Given the description of an element on the screen output the (x, y) to click on. 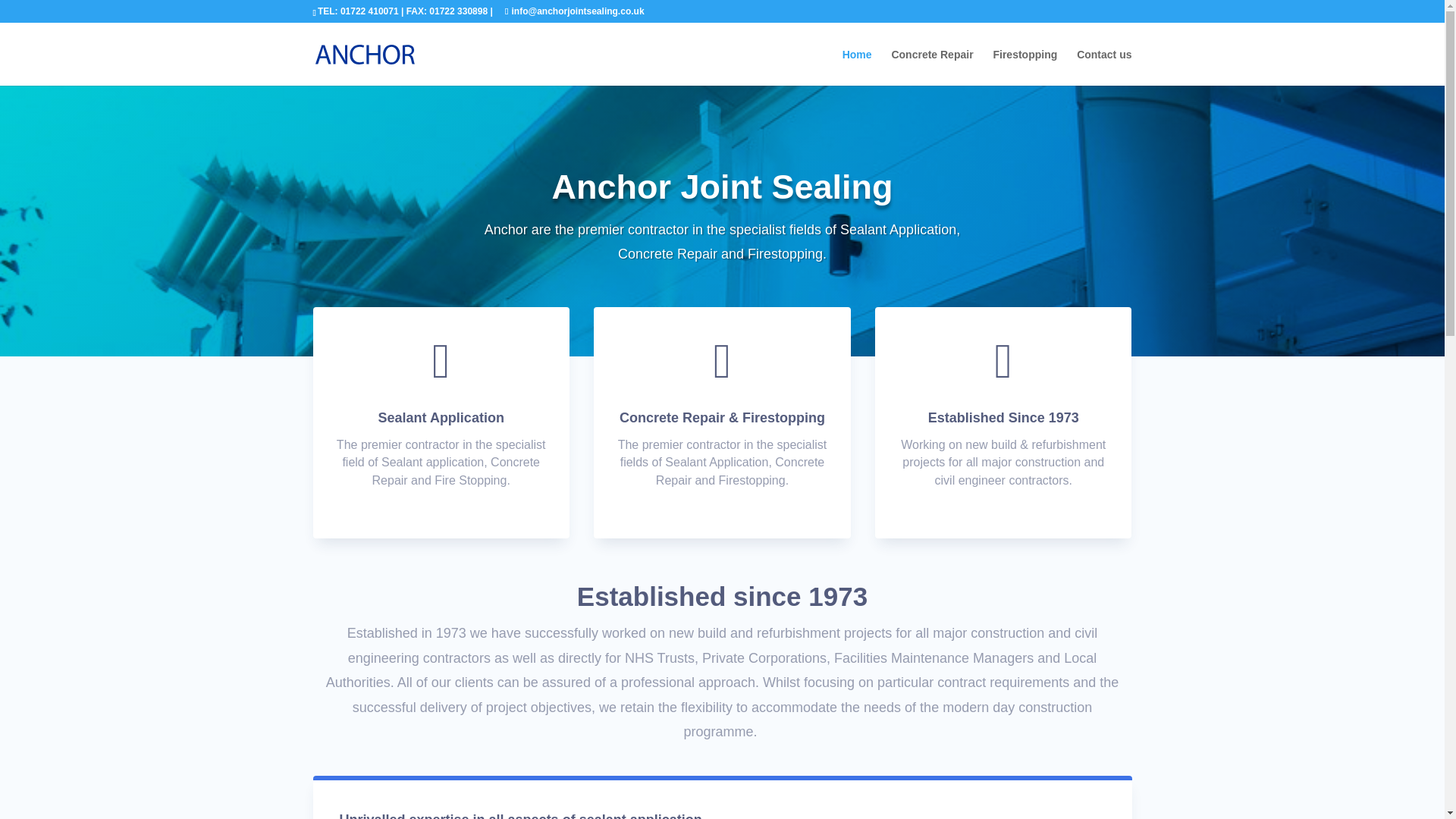
Concrete Repair (931, 67)
Contact us (1104, 67)
Firestopping (1024, 67)
